Given the description of an element on the screen output the (x, y) to click on. 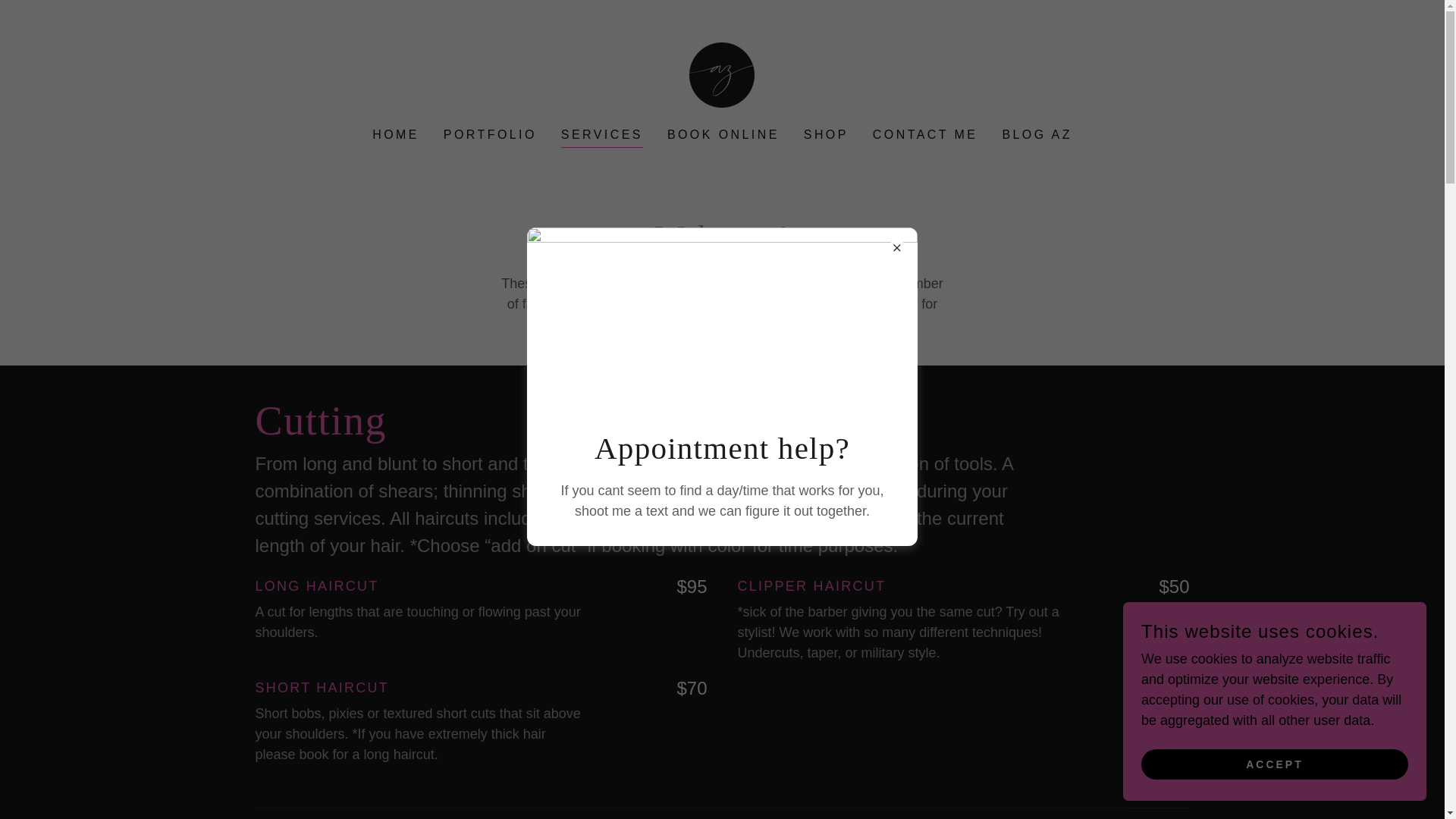
BLOG AZ (1036, 134)
PORTFOLIO (490, 134)
CONTACT ME (924, 134)
artistryaz (721, 73)
BOOK ONLINE (723, 134)
ACCEPT (1274, 764)
SERVICES (601, 137)
SHOP (826, 134)
HOME (395, 134)
